Given the description of an element on the screen output the (x, y) to click on. 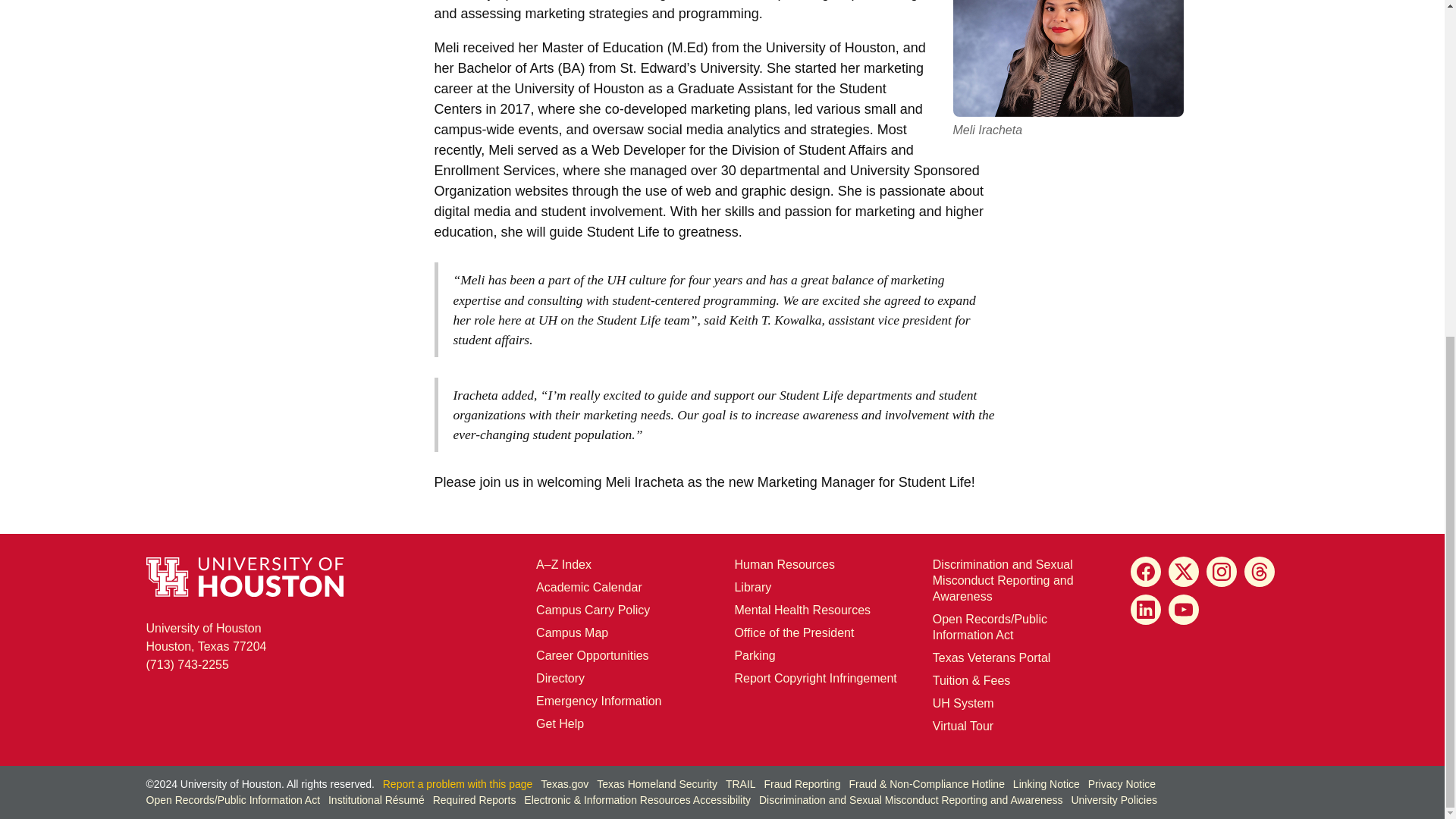
Campus Carry Policy (592, 609)
Report Copyright Infringement (814, 677)
Mental Health Resources (801, 609)
Emergency Information (598, 700)
Discrimination and Sexual Misconduct Reporting and Awareness (1003, 579)
University of Houston (547, 319)
Threads (1259, 571)
Library (752, 586)
